Given the description of an element on the screen output the (x, y) to click on. 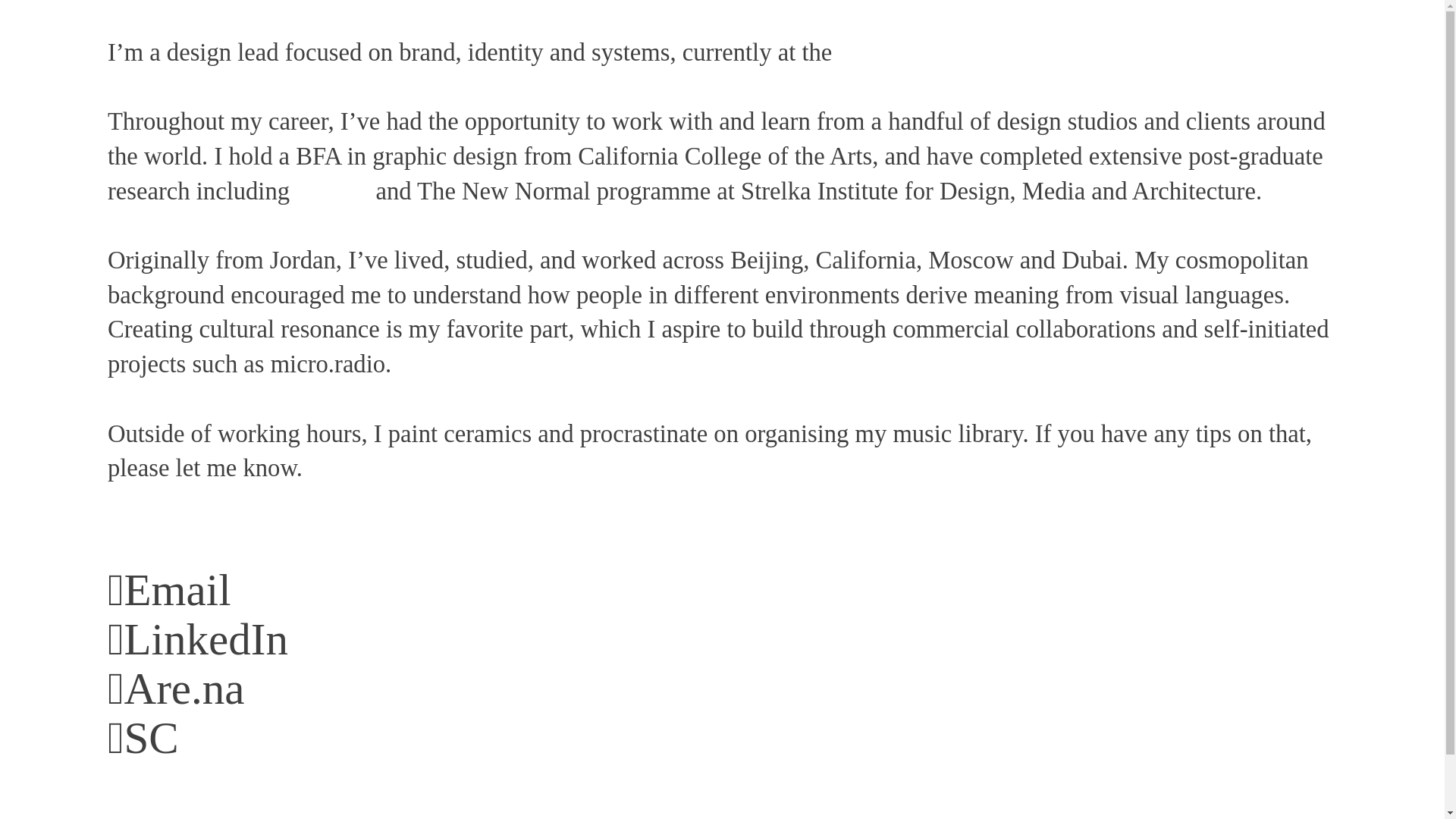
N26 Creative Studio. (943, 52)
d.MBA (332, 190)
